Given the description of an element on the screen output the (x, y) to click on. 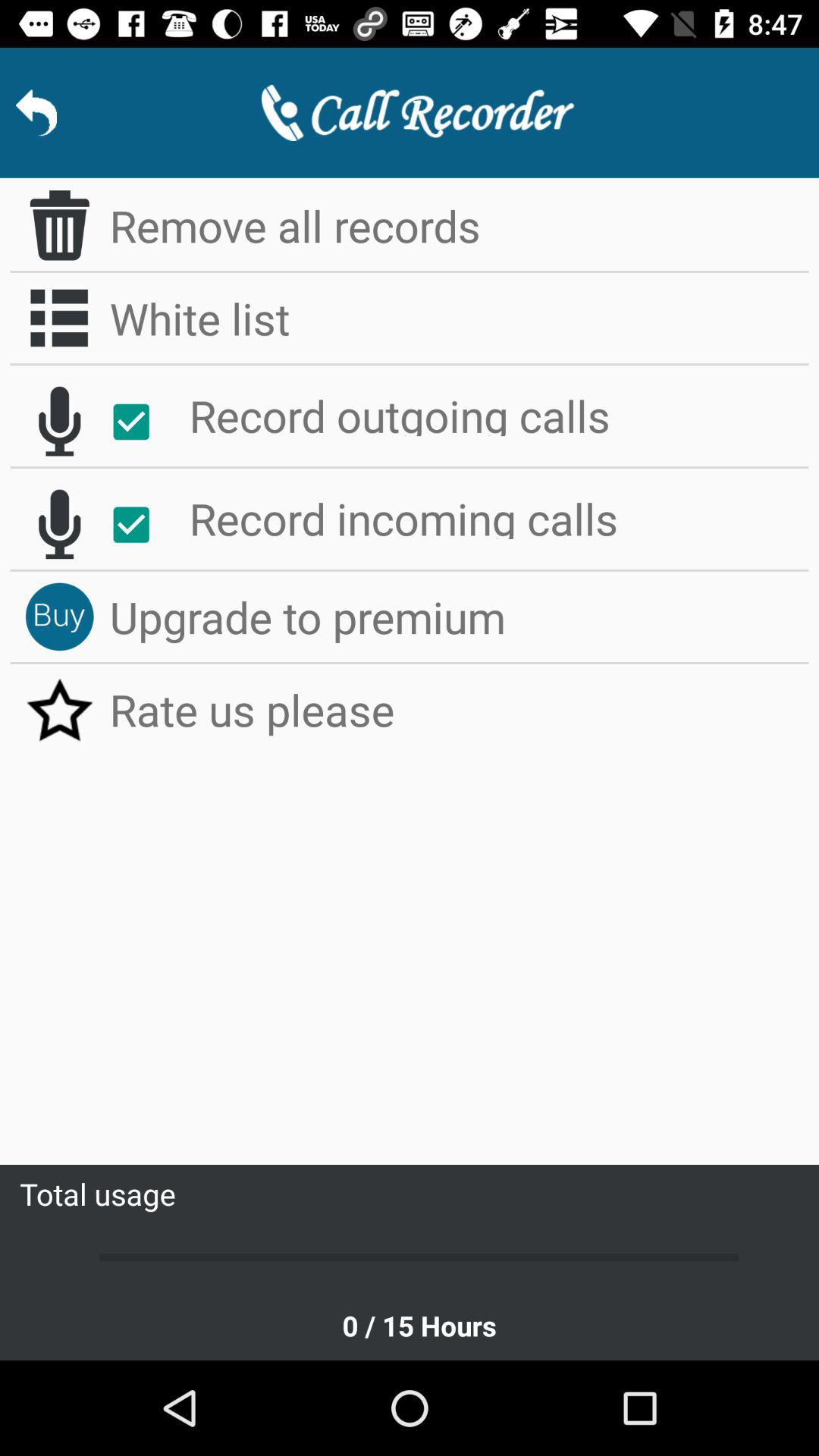
open app to the left of remove all records (59, 225)
